Given the description of an element on the screen output the (x, y) to click on. 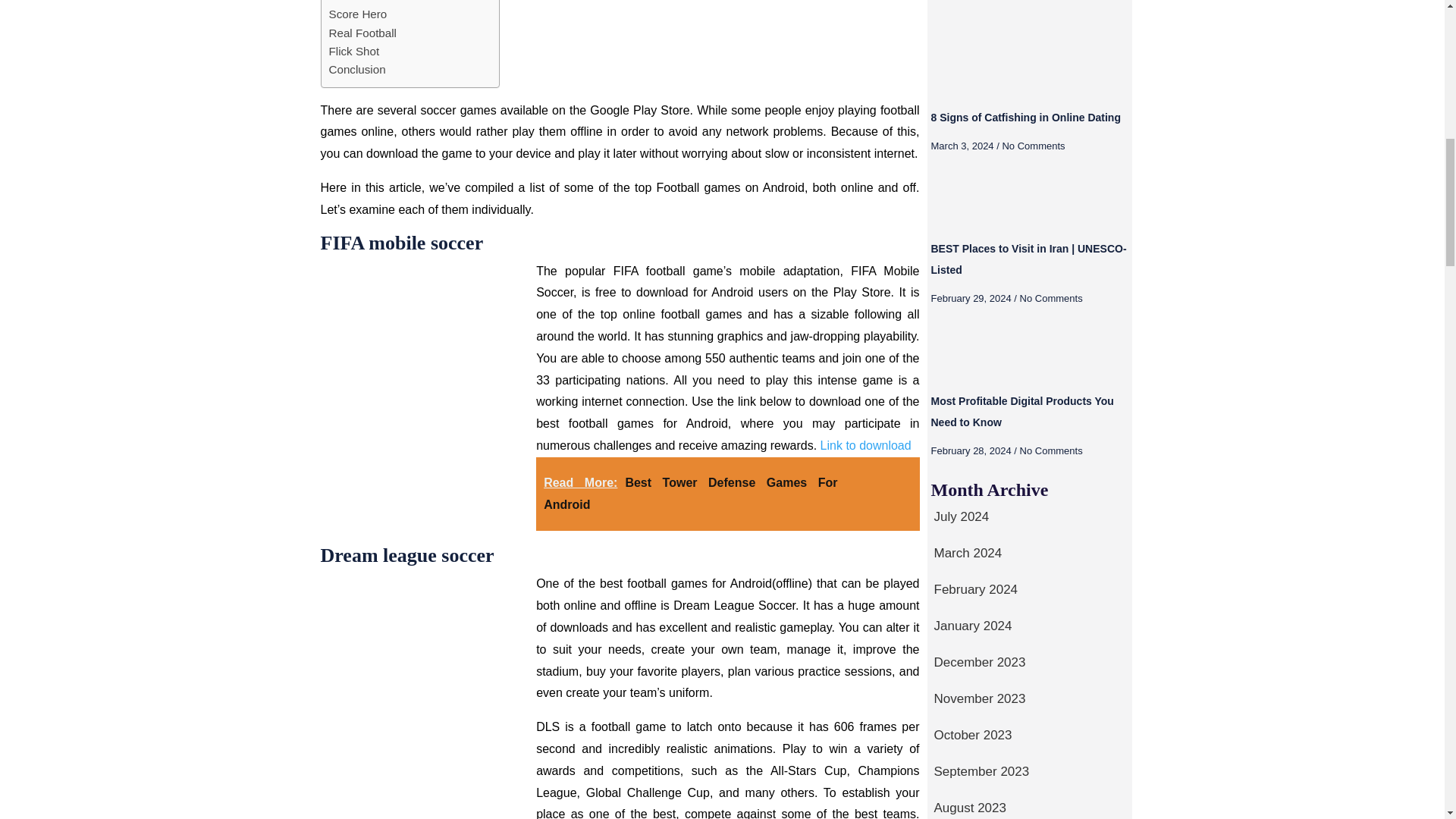
Conclusion (357, 69)
Flick Shot (354, 51)
Best Tower Defense Games For Android (690, 493)
Real Football (363, 33)
Score Hero (358, 13)
eFootball PES 2023 (379, 2)
eFootball PES 2023 (379, 2)
Conclusion (357, 69)
Real Football (363, 33)
Flick Shot (354, 51)
Score Hero (358, 13)
Link to download (866, 445)
